Given the description of an element on the screen output the (x, y) to click on. 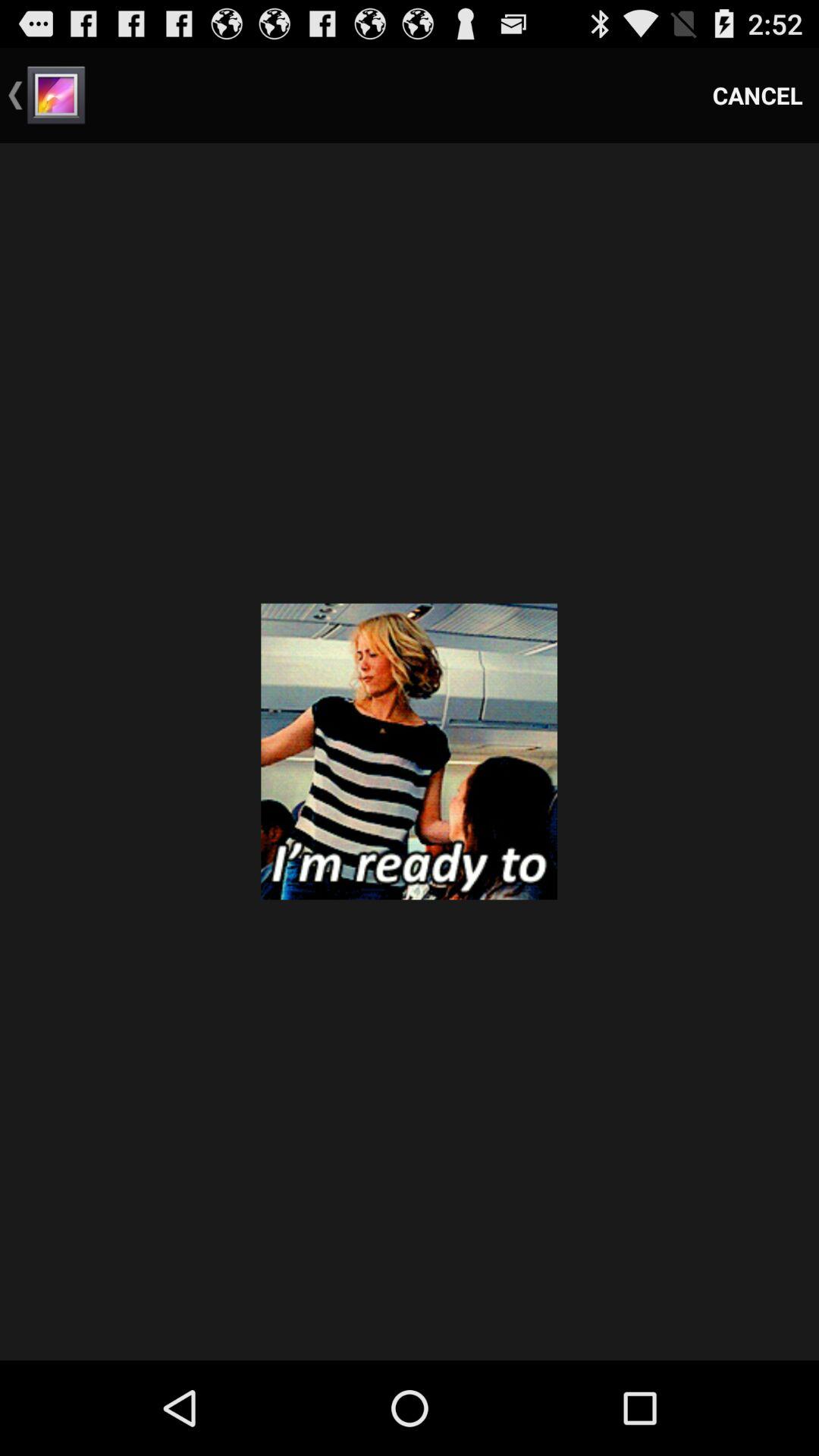
click the cancel (757, 95)
